Given the description of an element on the screen output the (x, y) to click on. 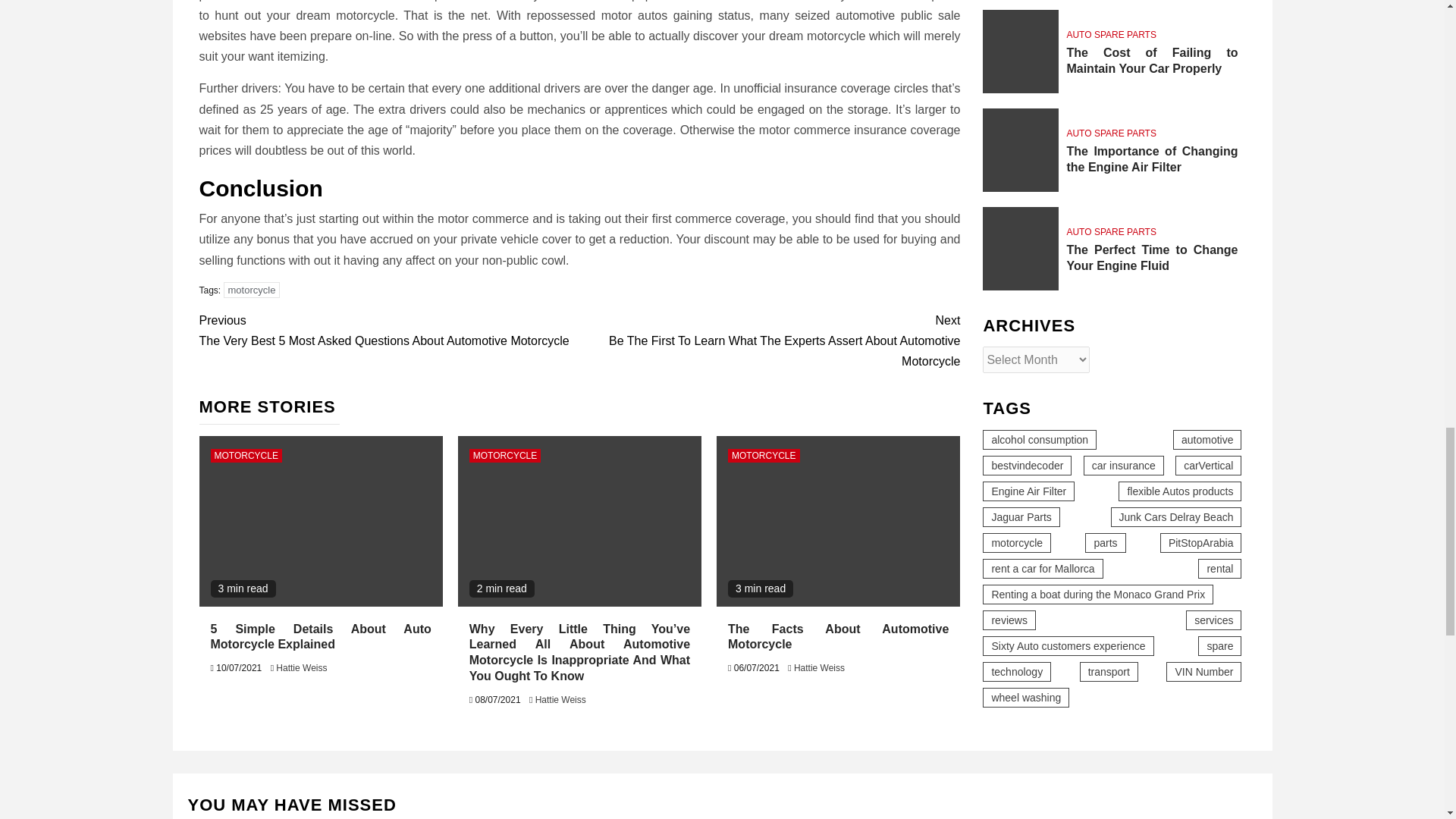
motorcycle (252, 289)
The Facts About Automotive Motorcycle (837, 520)
5 Simple Details About Auto Motorcycle Explained (320, 520)
MOTORCYCLE (504, 455)
Hattie Weiss (301, 667)
MOTORCYCLE (246, 455)
5 Simple Details About Auto Motorcycle Explained (320, 636)
